Given the description of an element on the screen output the (x, y) to click on. 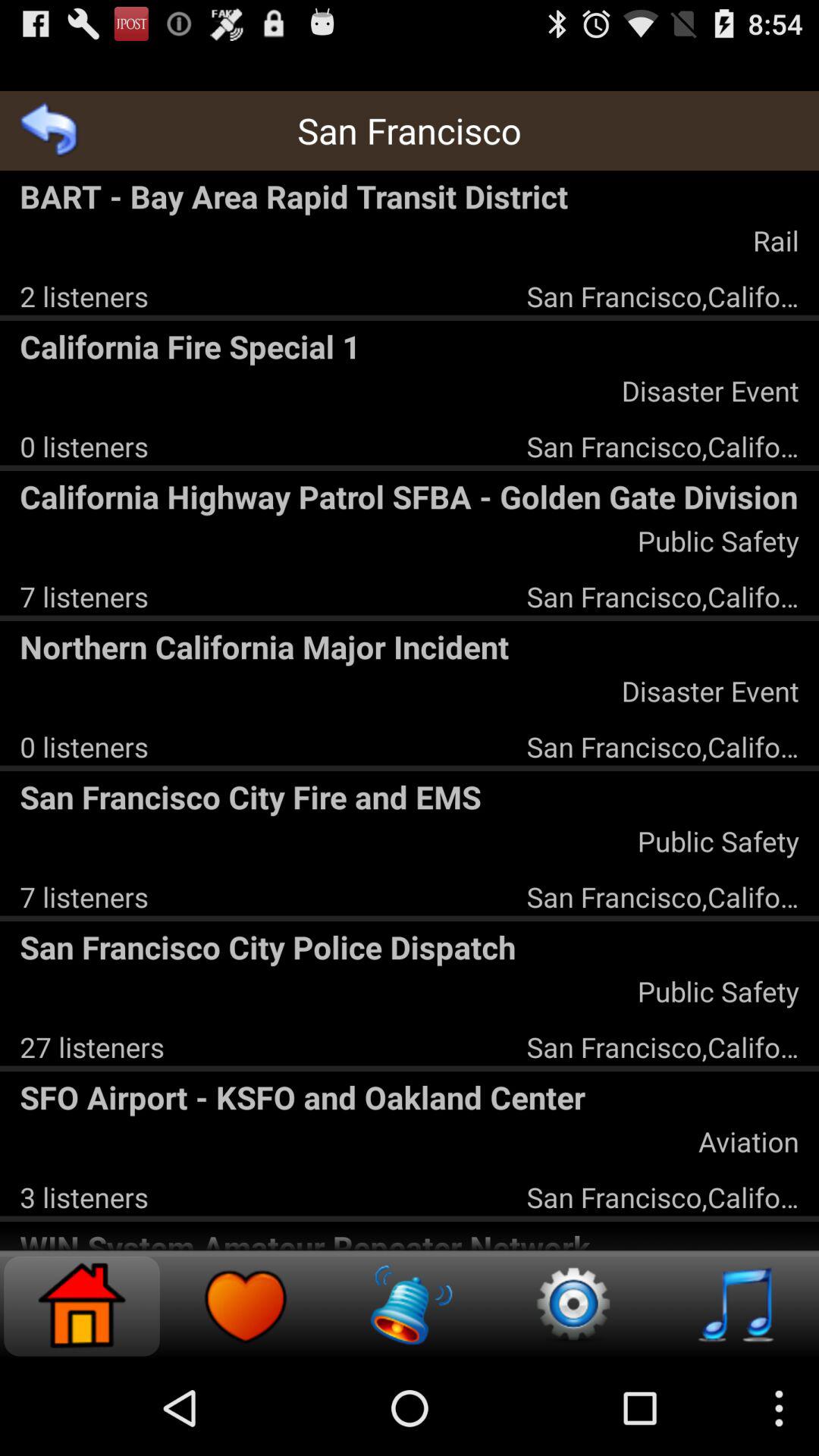
open the icon above the california fire special item (83, 296)
